Given the description of an element on the screen output the (x, y) to click on. 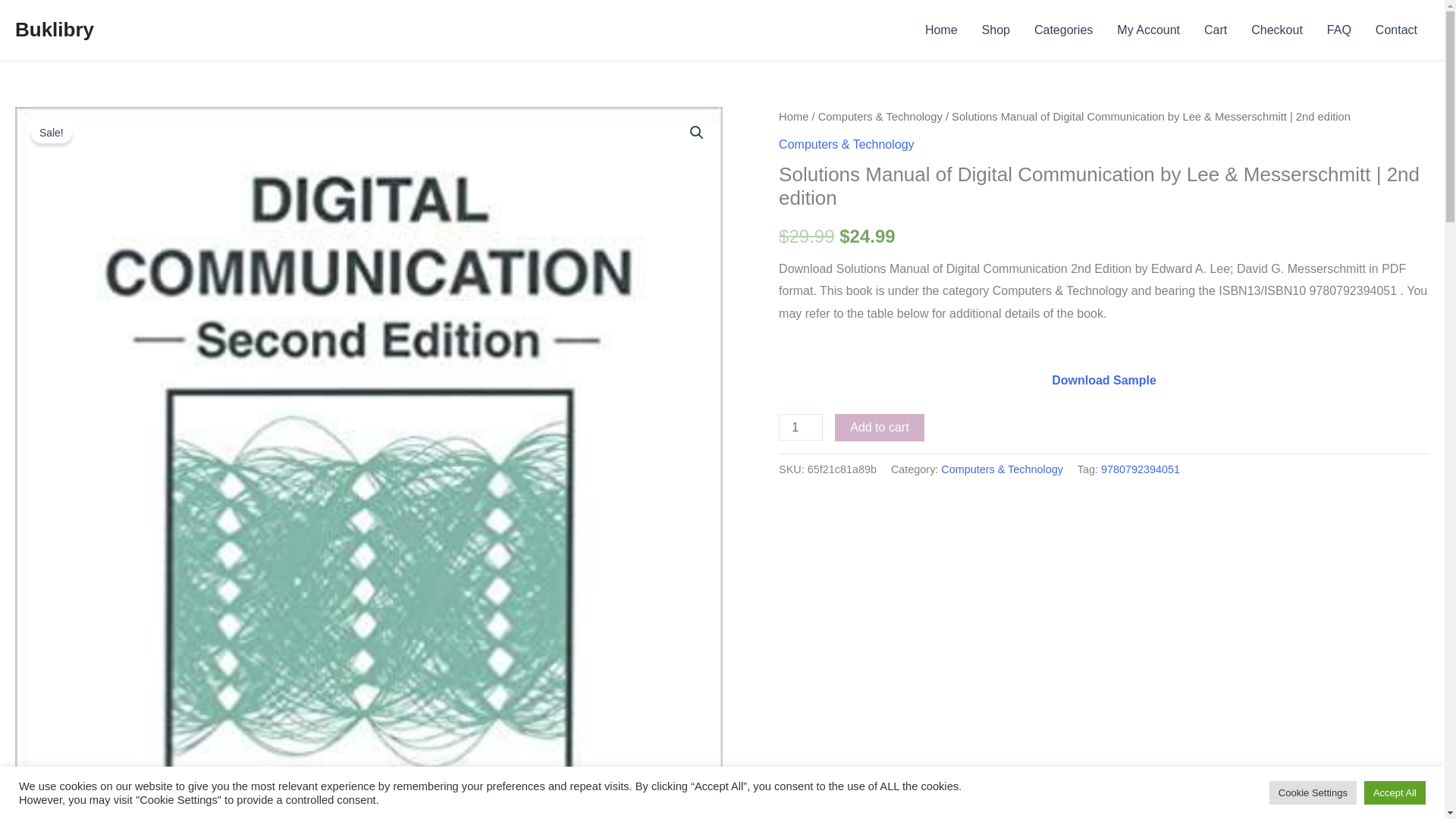
1 (800, 427)
Home (940, 30)
Buklibry (54, 29)
Home (793, 116)
Categories (1063, 30)
Checkout (1276, 30)
My Account (1148, 30)
Contact (1395, 30)
